Given the description of an element on the screen output the (x, y) to click on. 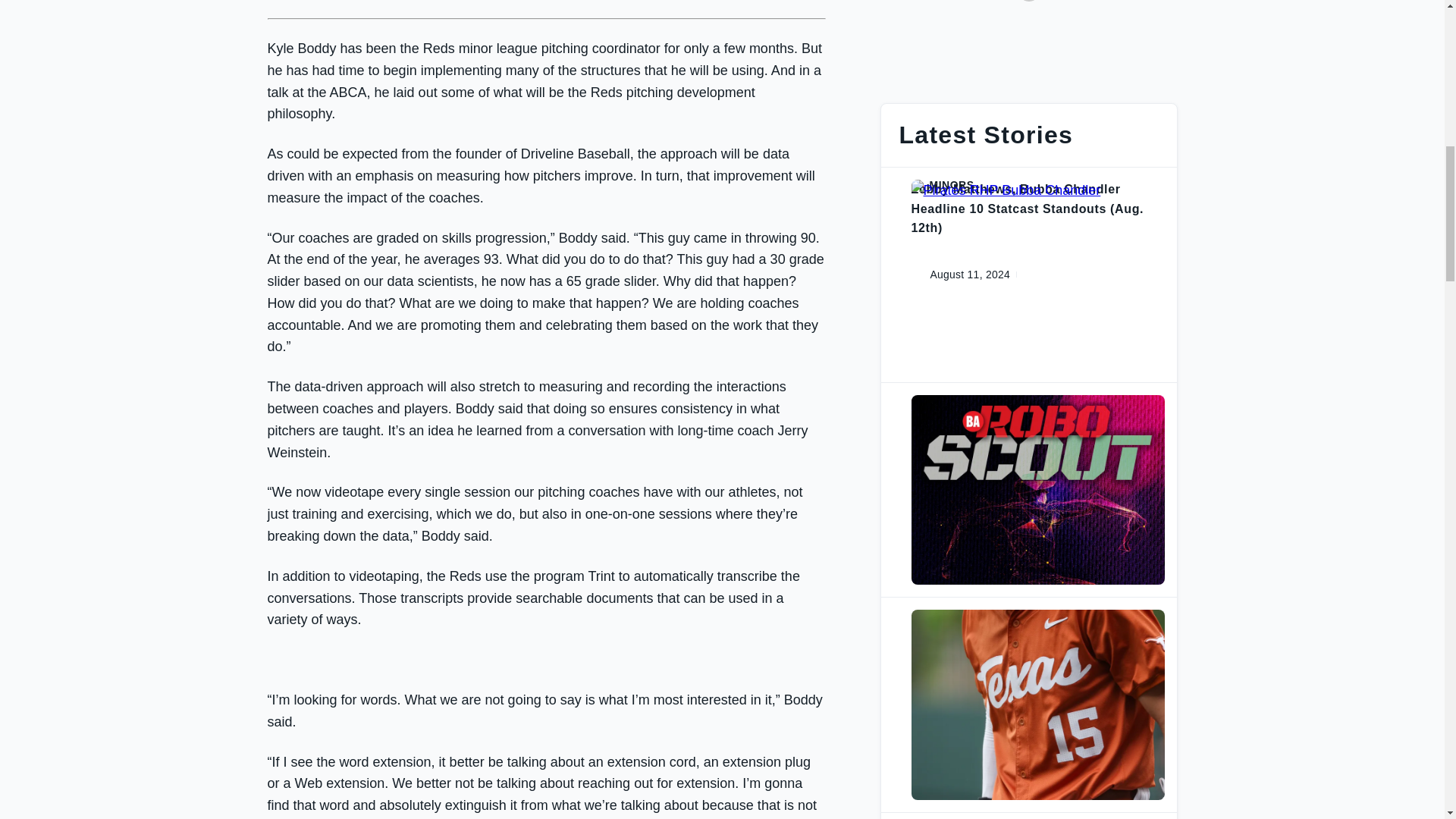
Post date (957, 274)
Post category (1037, 184)
Post date (957, 489)
Post date (954, 704)
Post category (1037, 400)
Post category (1037, 614)
